Given the description of an element on the screen output the (x, y) to click on. 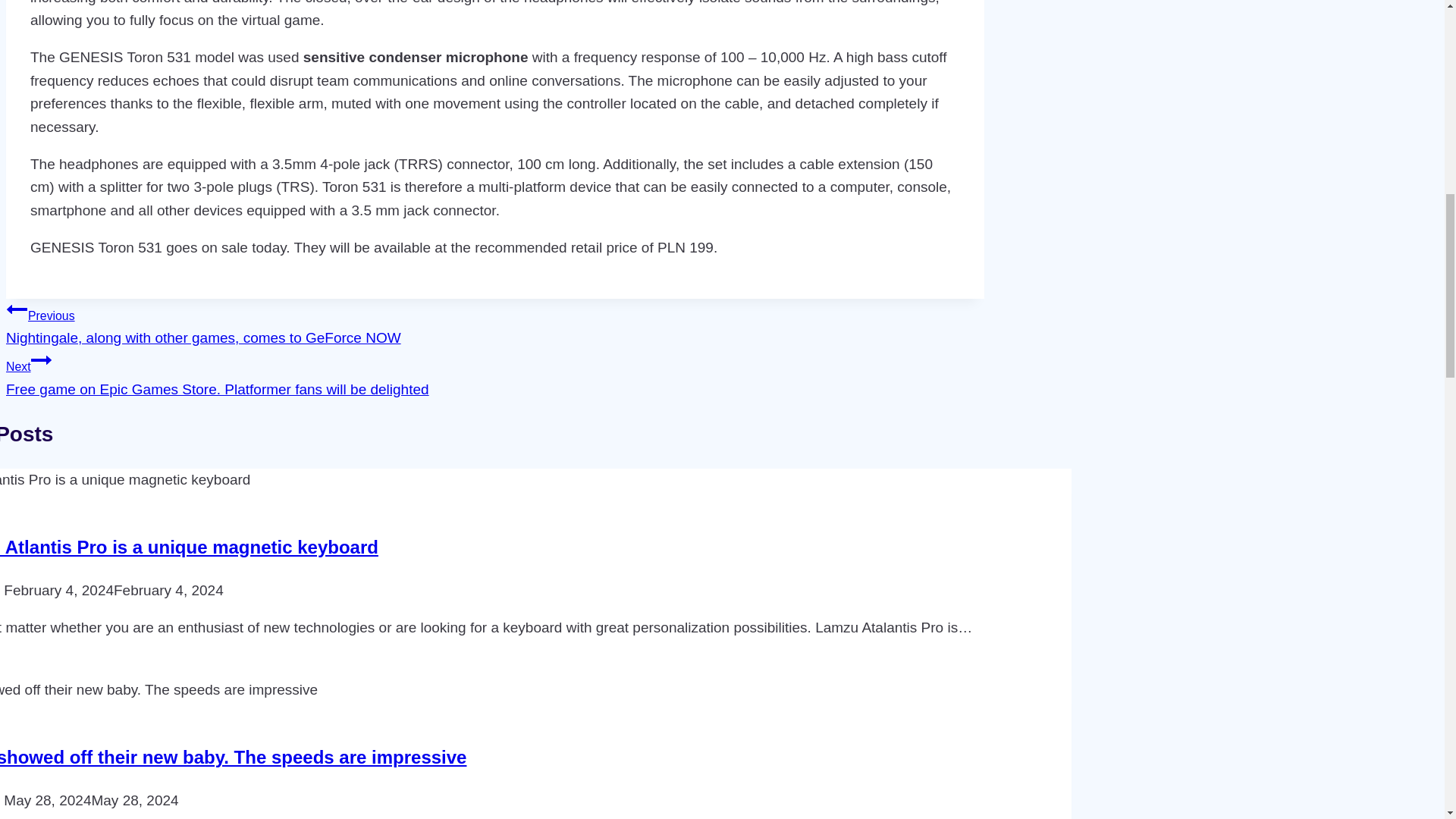
Continue (40, 360)
Lamzu Atlantis Pro is a unique magnetic keyboard (189, 547)
Previous (16, 309)
Poles showed off their new baby. The speeds are impressive (232, 756)
